Given the description of an element on the screen output the (x, y) to click on. 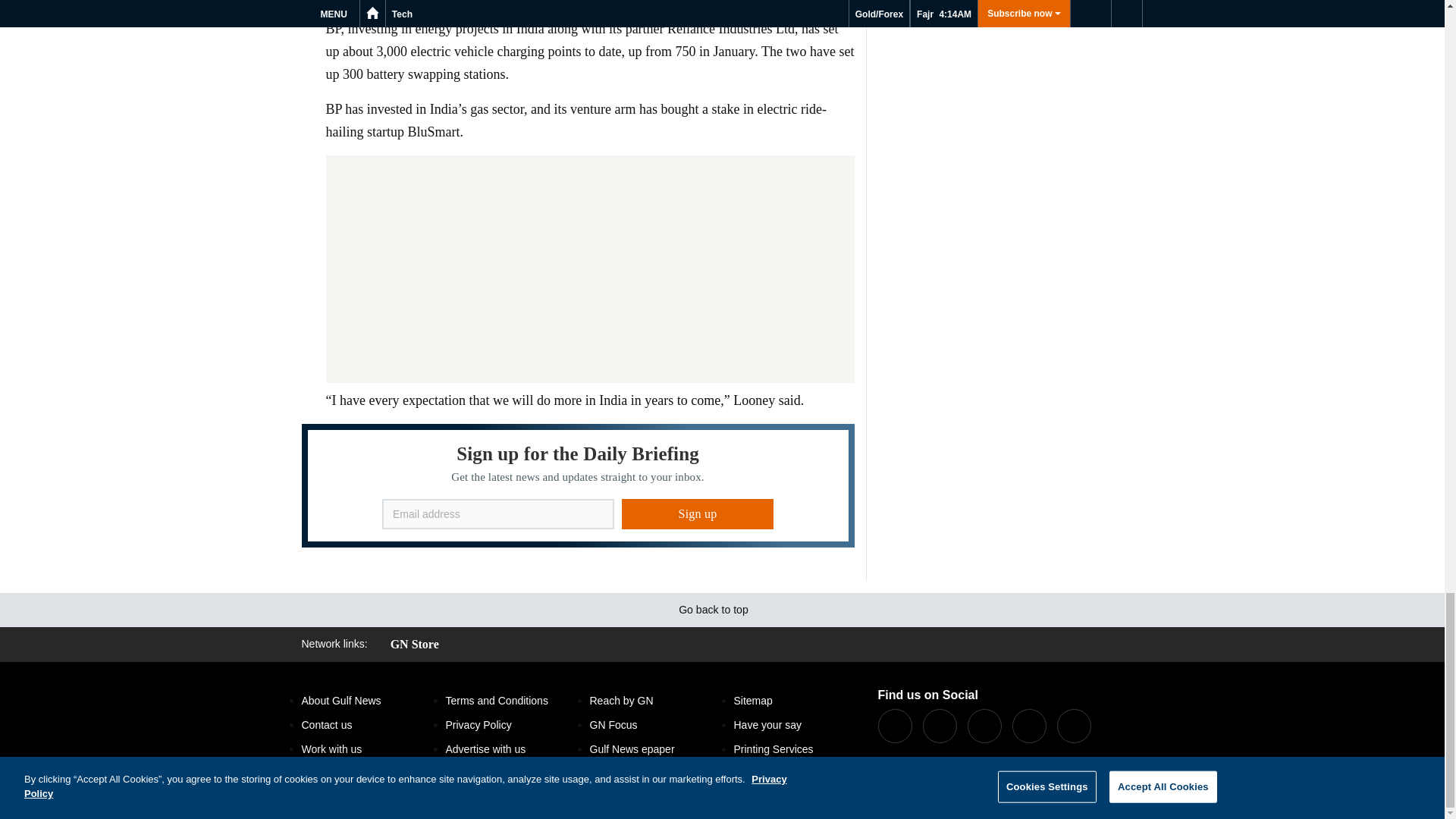
Sign up for the Daily Briefing (577, 485)
